Given the description of an element on the screen output the (x, y) to click on. 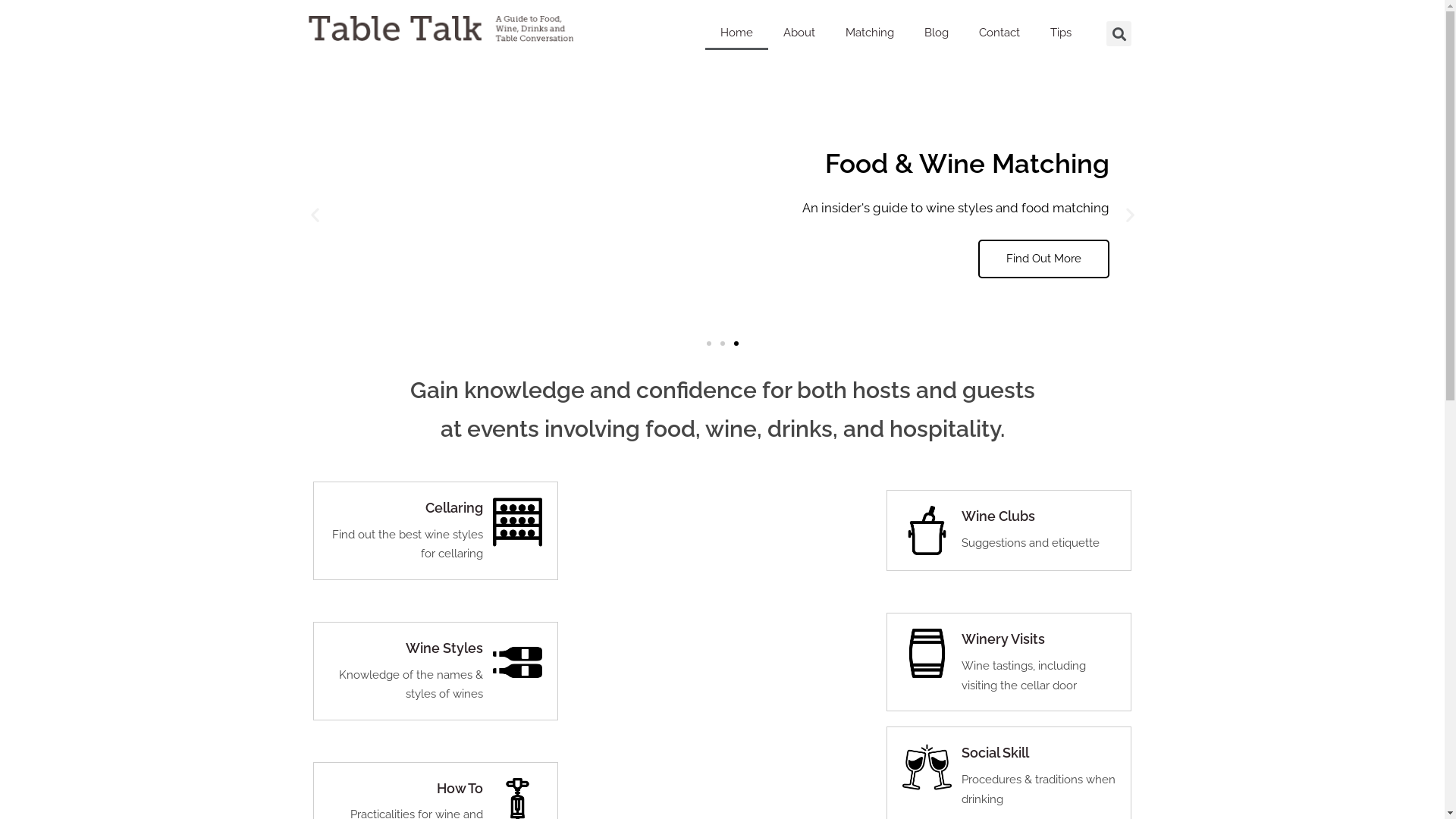
Blog Element type: text (936, 32)
Contact Element type: text (999, 32)
About Element type: text (799, 32)
Tips Element type: text (1060, 32)
Matching Element type: text (869, 32)
Home Element type: text (736, 32)
